Given the description of an element on the screen output the (x, y) to click on. 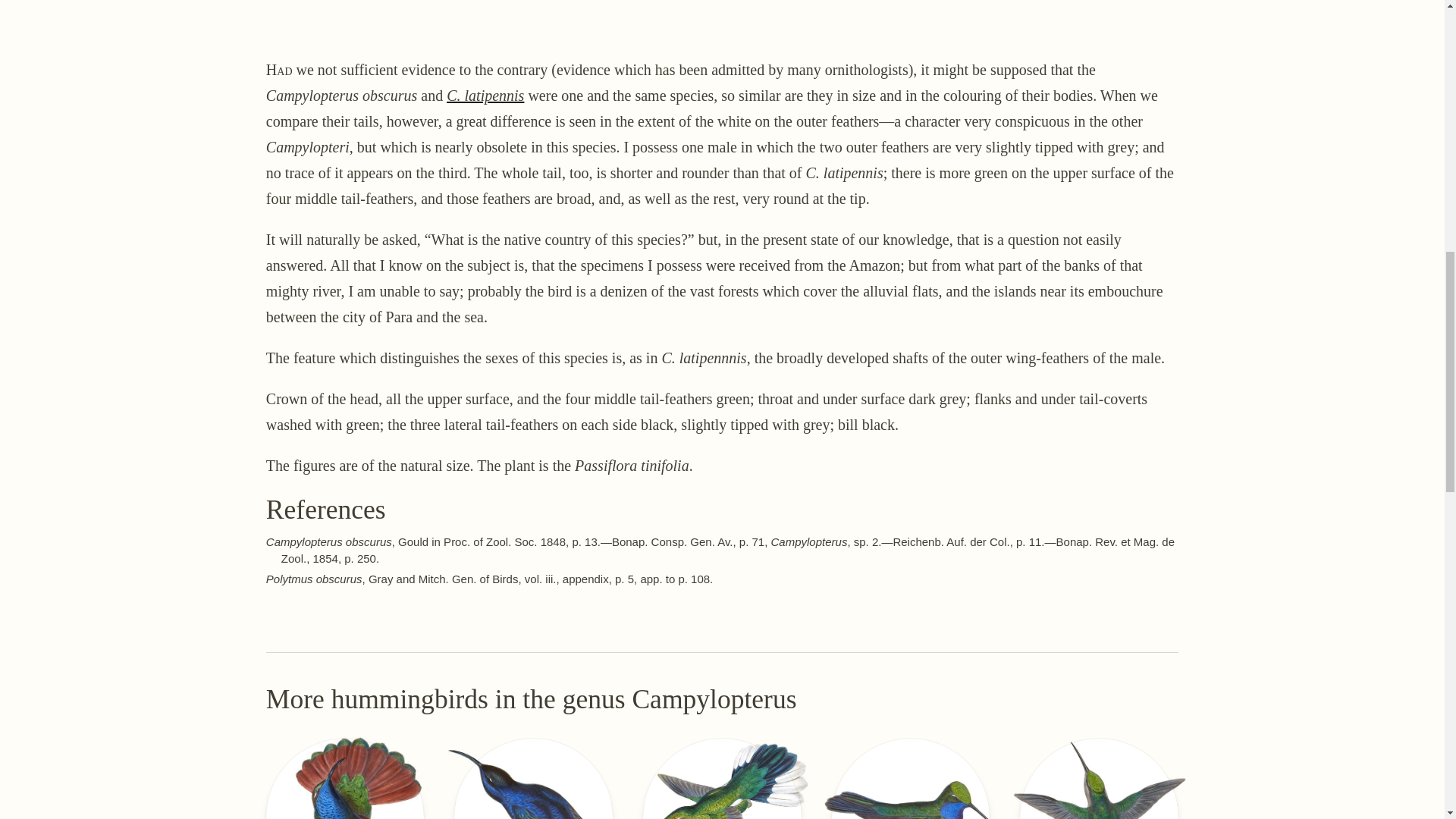
C. latipennis (345, 778)
